Given the description of an element on the screen output the (x, y) to click on. 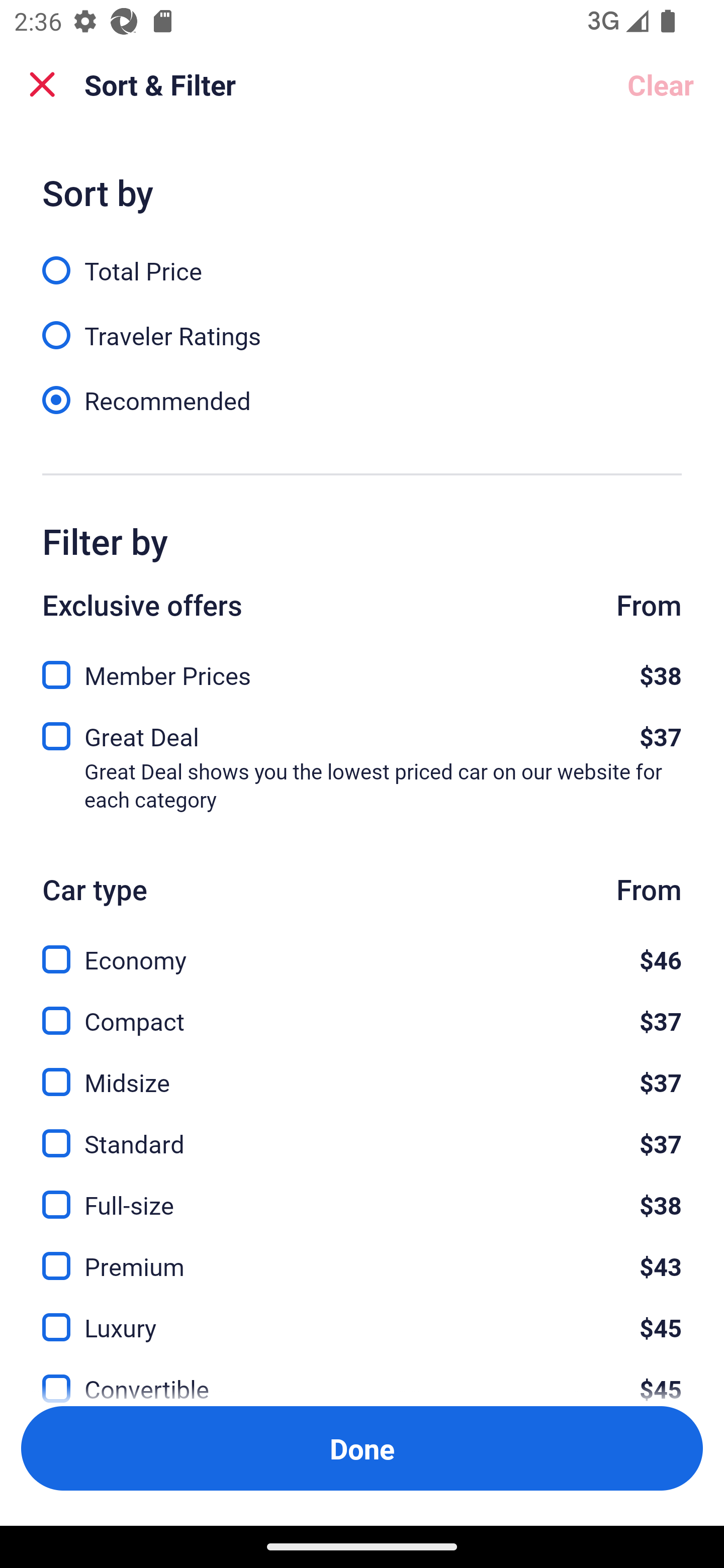
Close Sort and Filter (42, 84)
Clear (660, 84)
Total Price (361, 259)
Traveler Ratings (361, 324)
Member Prices, $38 Member Prices $38 (361, 669)
Economy, $46 Economy $46 (361, 947)
Compact, $37 Compact $37 (361, 1008)
Midsize, $37 Midsize $37 (361, 1070)
Standard, $37 Standard $37 (361, 1132)
Full-size, $38 Full-size $38 (361, 1193)
Premium, $43 Premium $43 (361, 1254)
Luxury, $45 Luxury $45 (361, 1315)
Convertible, $45 Convertible $45 (361, 1376)
Apply and close Sort and Filter Done (361, 1448)
